Given the description of an element on the screen output the (x, y) to click on. 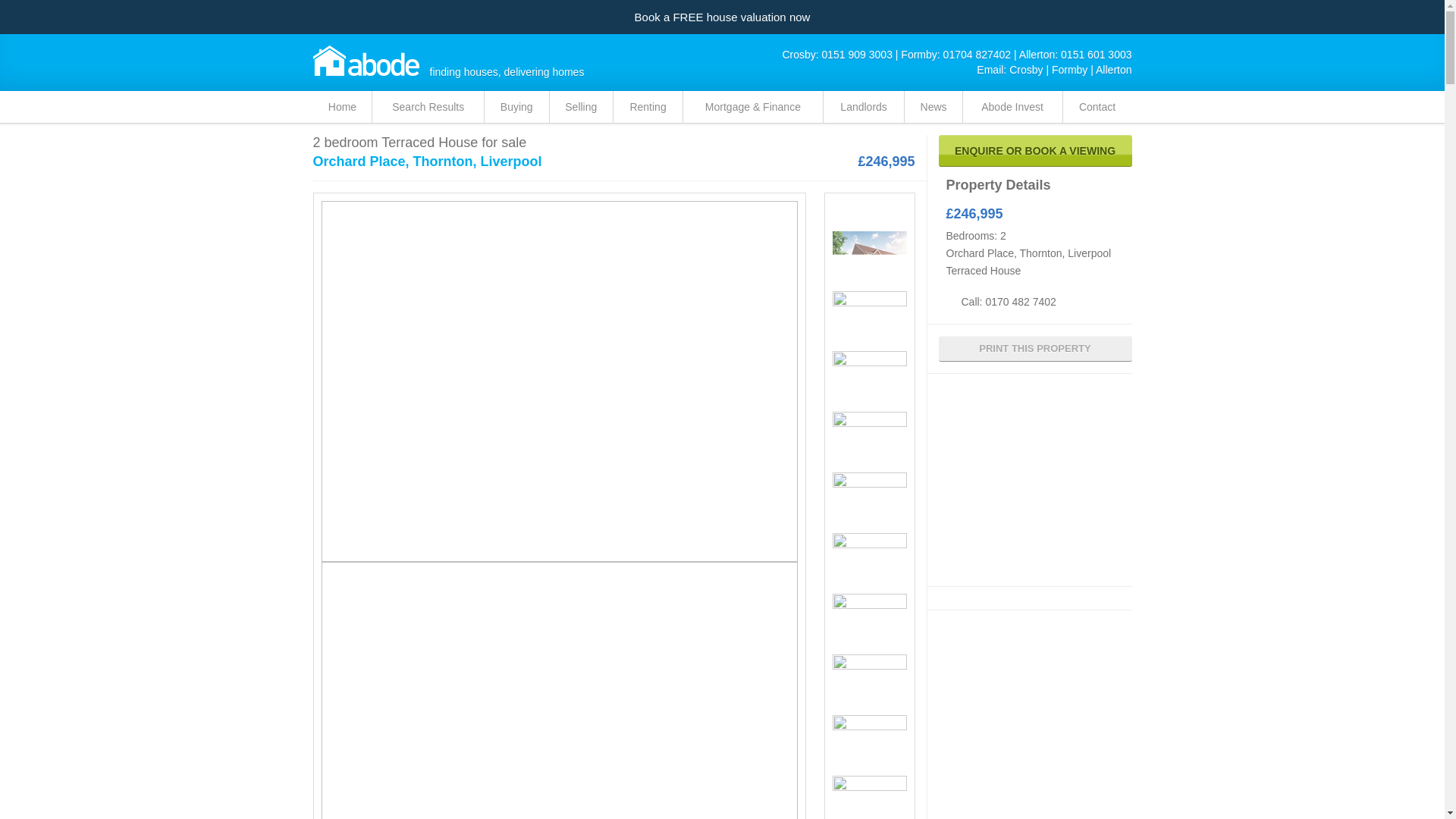
ENQUIRE OR BOOK A VIEWING (1035, 151)
News (932, 106)
Crosby (1025, 69)
01704 827402 (977, 54)
Allerton (1113, 69)
Buying (516, 106)
Search Results (427, 106)
Abode Invest (1012, 106)
finding houses, delivering homes (366, 60)
Formby (1069, 69)
